Given the description of an element on the screen output the (x, y) to click on. 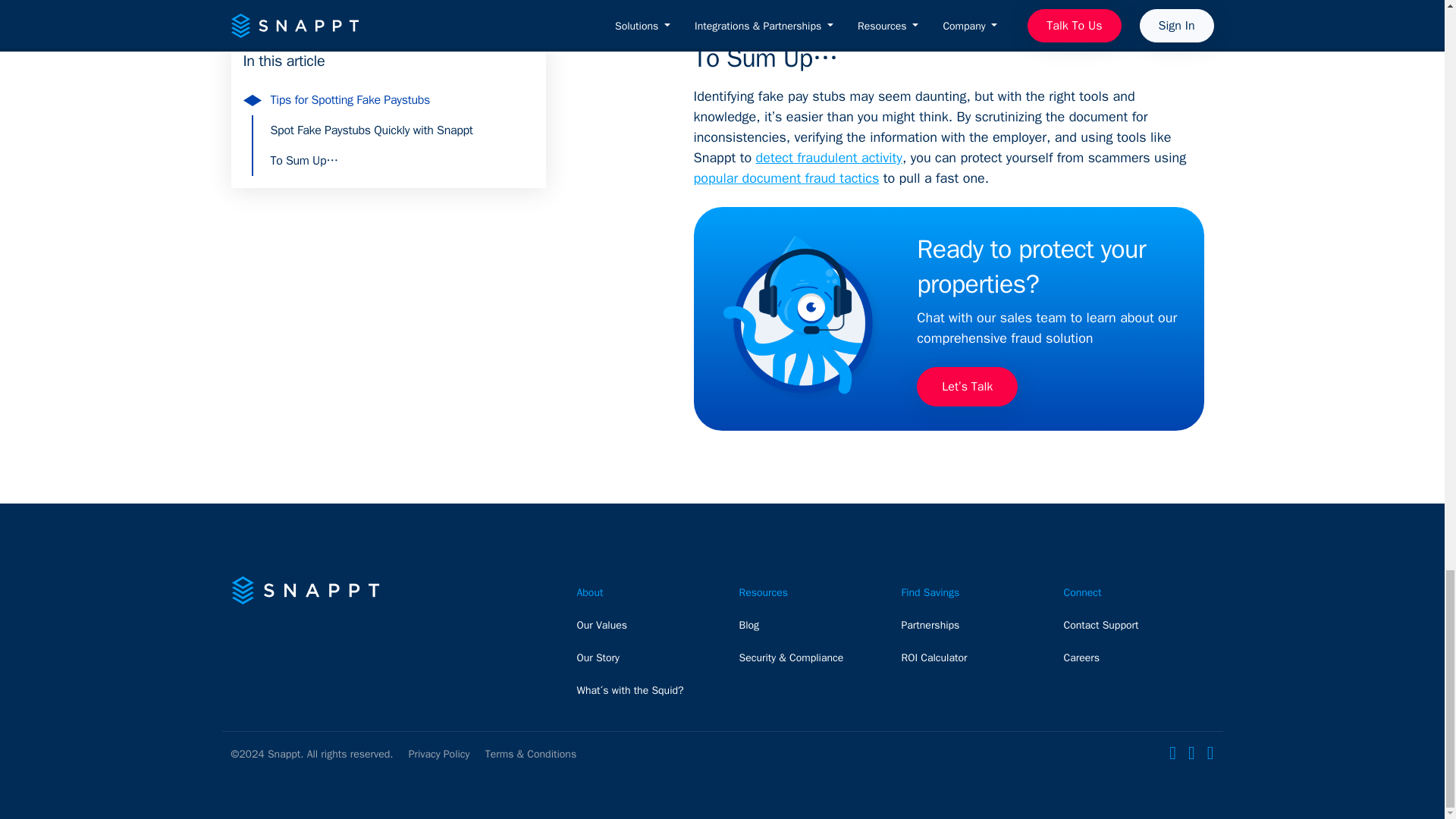
visit our website (1009, 0)
popular document fraud tactics (786, 177)
free demo (910, 0)
detect fraudulent activity (828, 157)
